Given the description of an element on the screen output the (x, y) to click on. 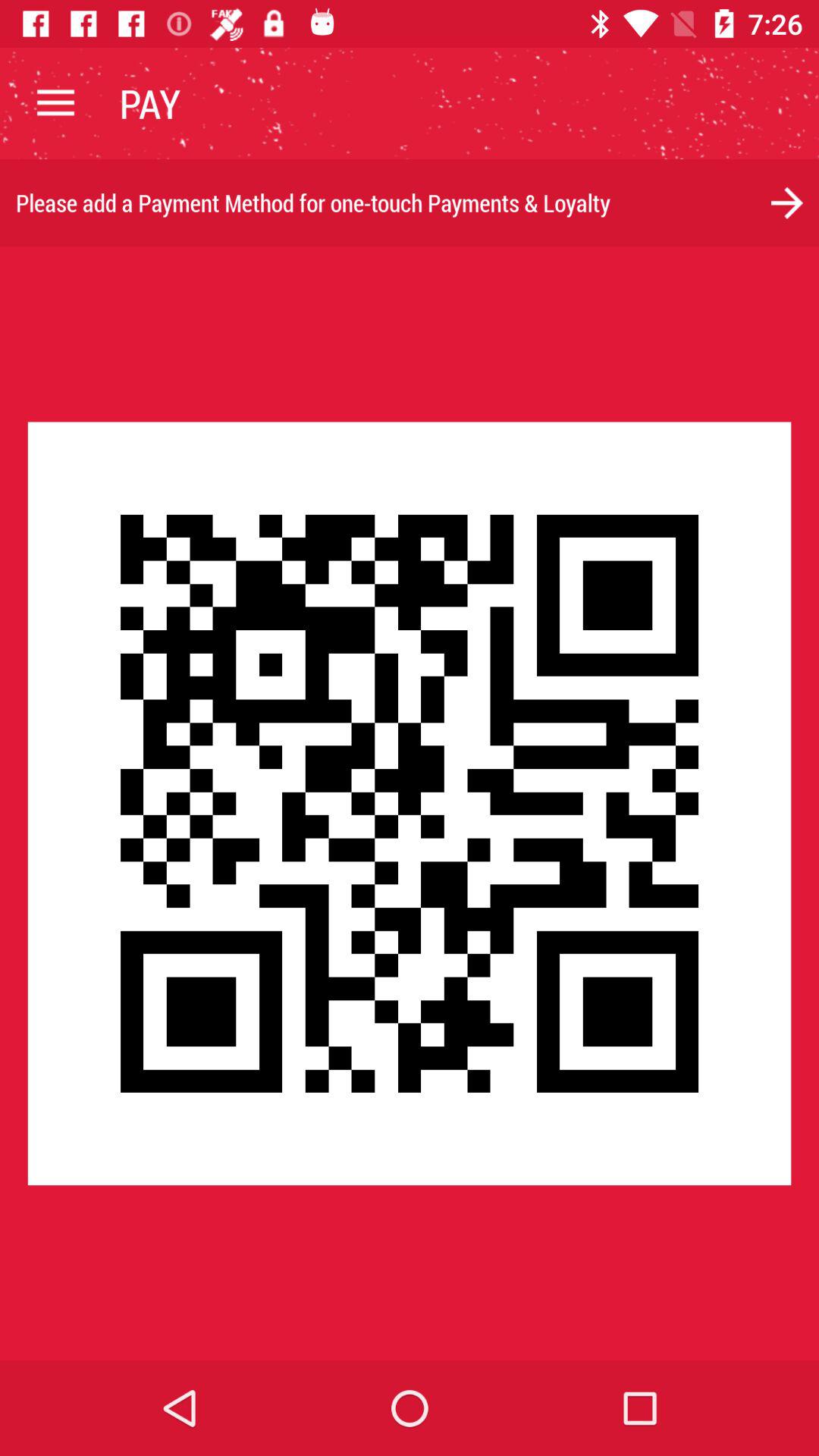
scroll until the please add a item (409, 202)
